Given the description of an element on the screen output the (x, y) to click on. 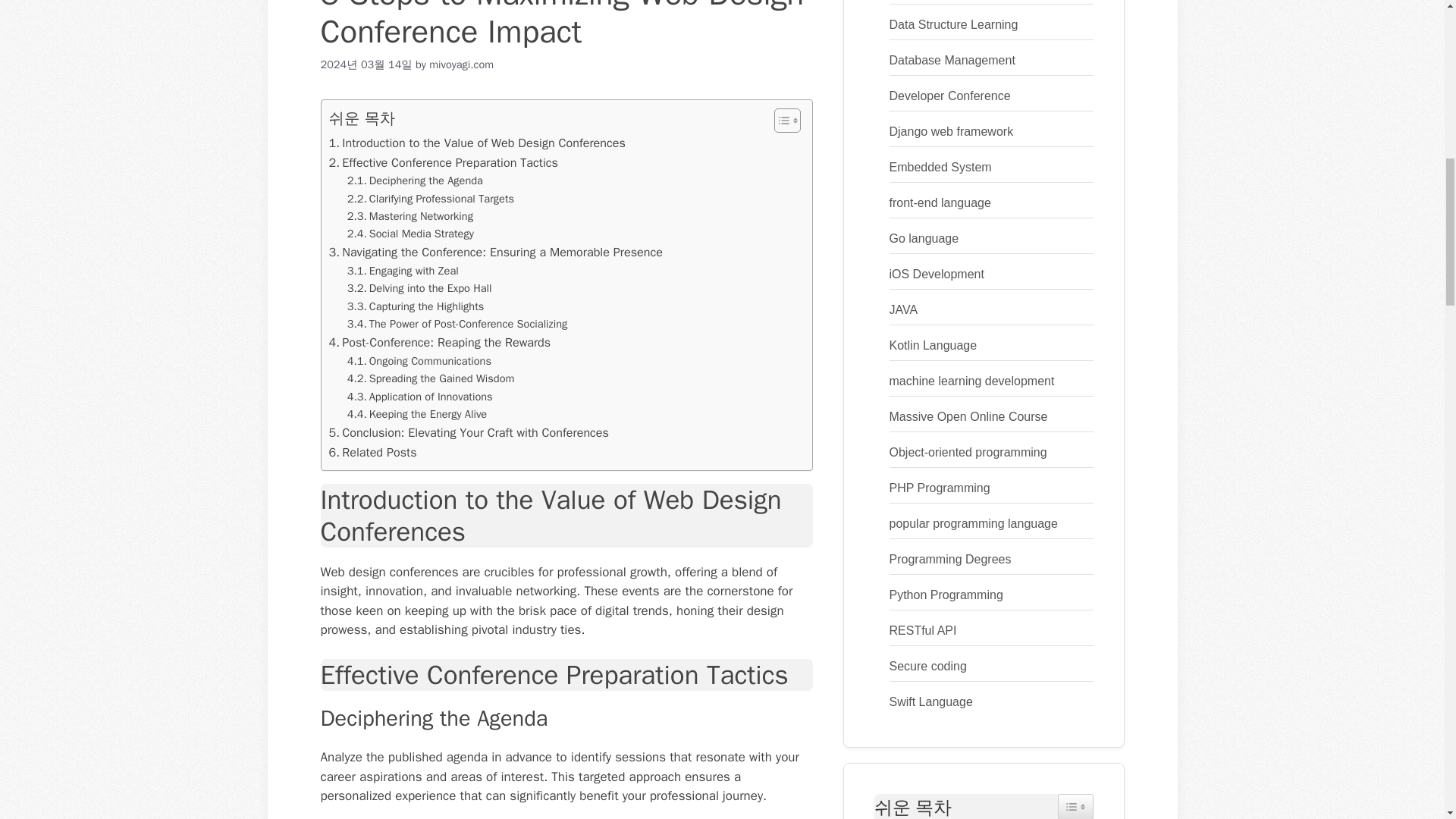
Deciphering the Agenda (415, 180)
Introduction to the Value of Web Design Conferences (477, 143)
Spreading the Gained Wisdom (431, 378)
Deciphering the Agenda (415, 180)
Keeping the Energy Alive (416, 414)
Ongoing Communications (419, 361)
mivoyagi.com (461, 64)
Delving into the Expo Hall (419, 288)
The Power of Post-Conference Socializing (457, 323)
Post-Conference: Reaping the Rewards (440, 342)
